Given the description of an element on the screen output the (x, y) to click on. 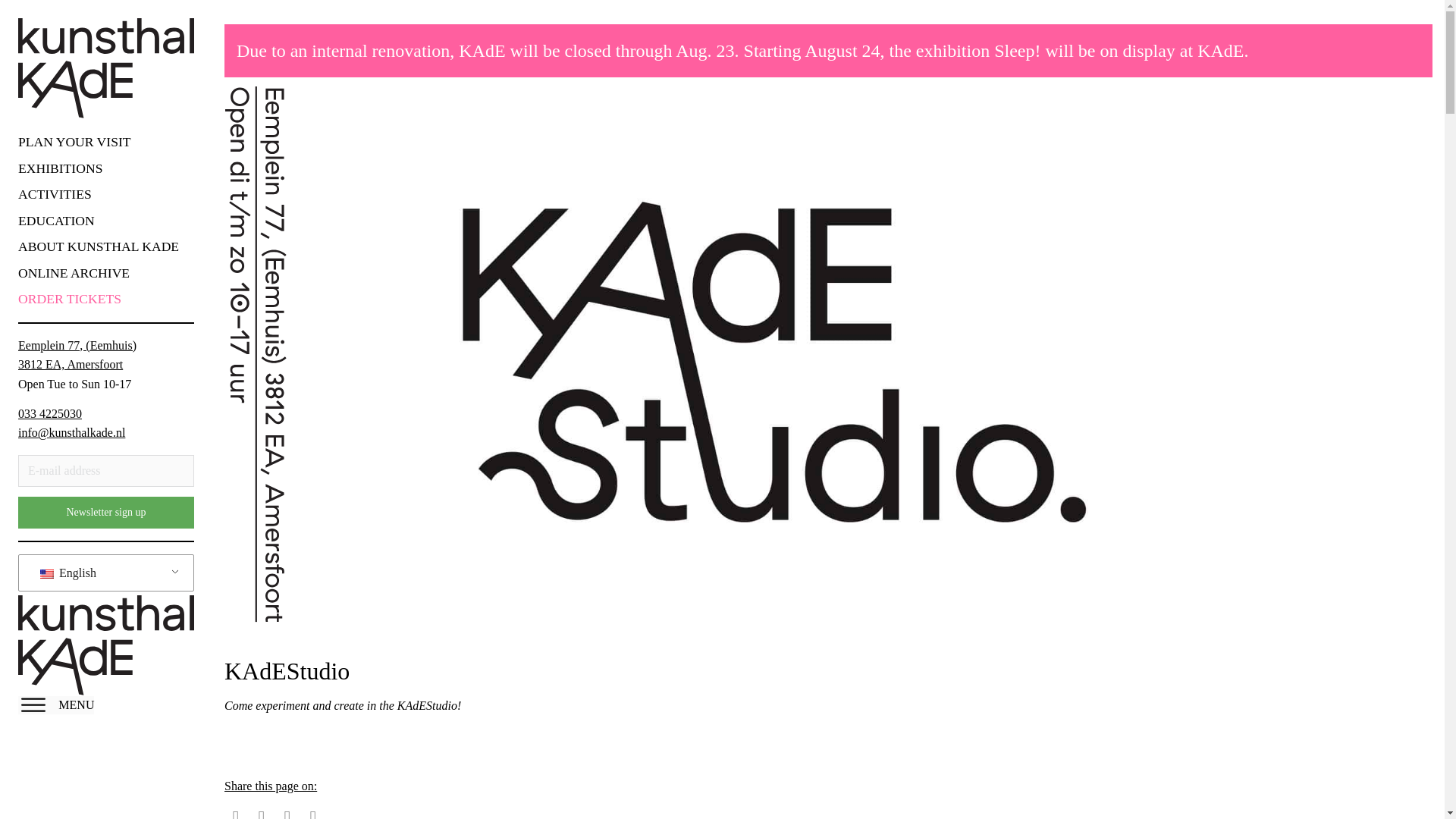
PLAN YOUR VISIT (98, 141)
English (46, 573)
MENU (55, 705)
English (103, 572)
033 4225030 (49, 414)
EDUCATION (98, 219)
ONLINE ARCHIVE (98, 272)
ACTIVITIES (98, 193)
ABOUT KUNSTHAL KADE (98, 246)
Newsletter sign up (105, 512)
